Given the description of an element on the screen output the (x, y) to click on. 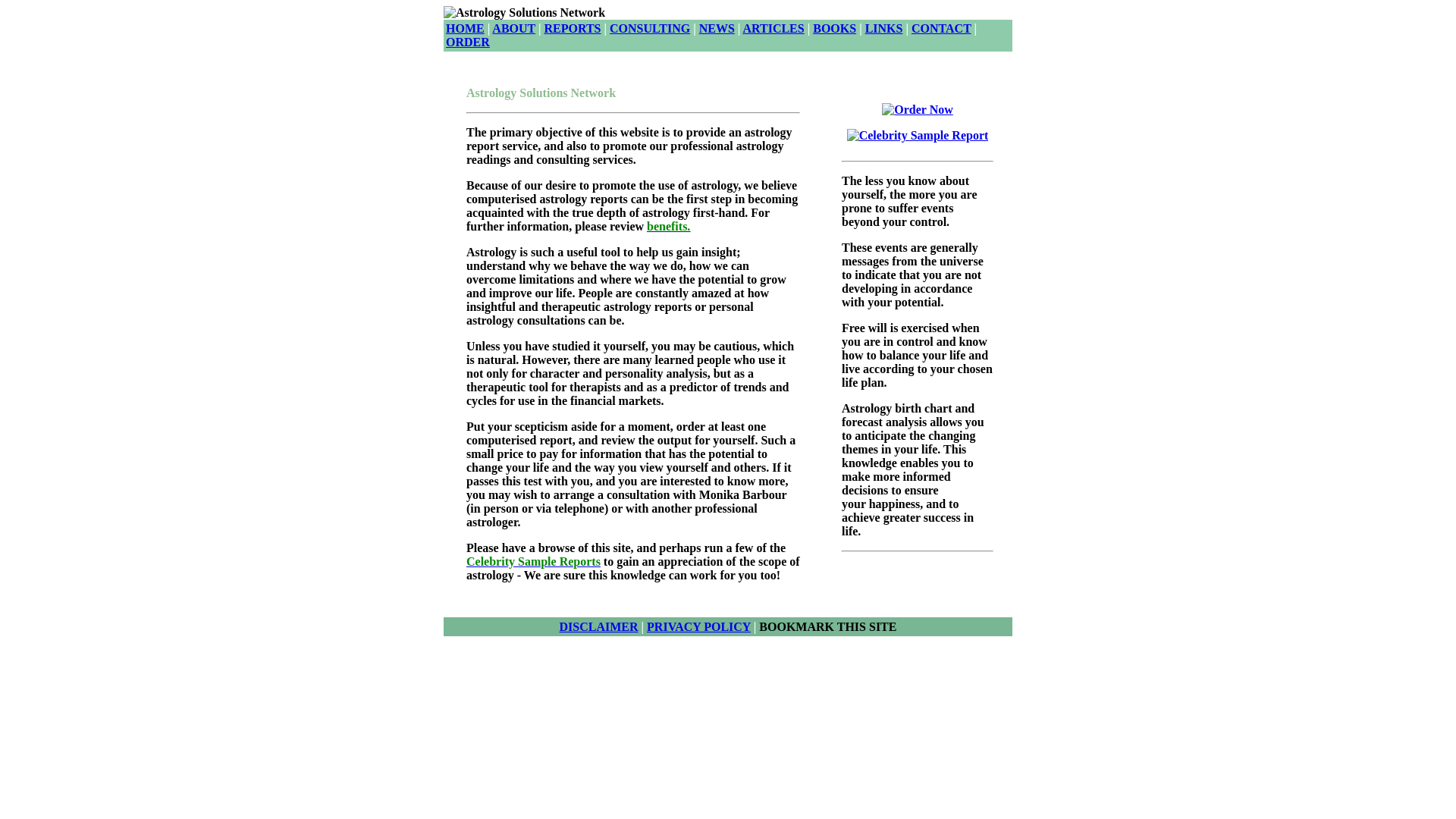
ABOUT (513, 28)
Celebrity Sample Reports (532, 561)
ORDER (467, 42)
HOME (464, 28)
LINKS (883, 28)
REPORTS (571, 28)
CONTACT (941, 28)
NEWS (716, 28)
benefits. (668, 226)
CONSULTING (650, 28)
ARTICLES (772, 28)
Celebrity Sample Reports (532, 561)
Benefits of Reports (668, 226)
BOOKS (834, 28)
